Given the description of an element on the screen output the (x, y) to click on. 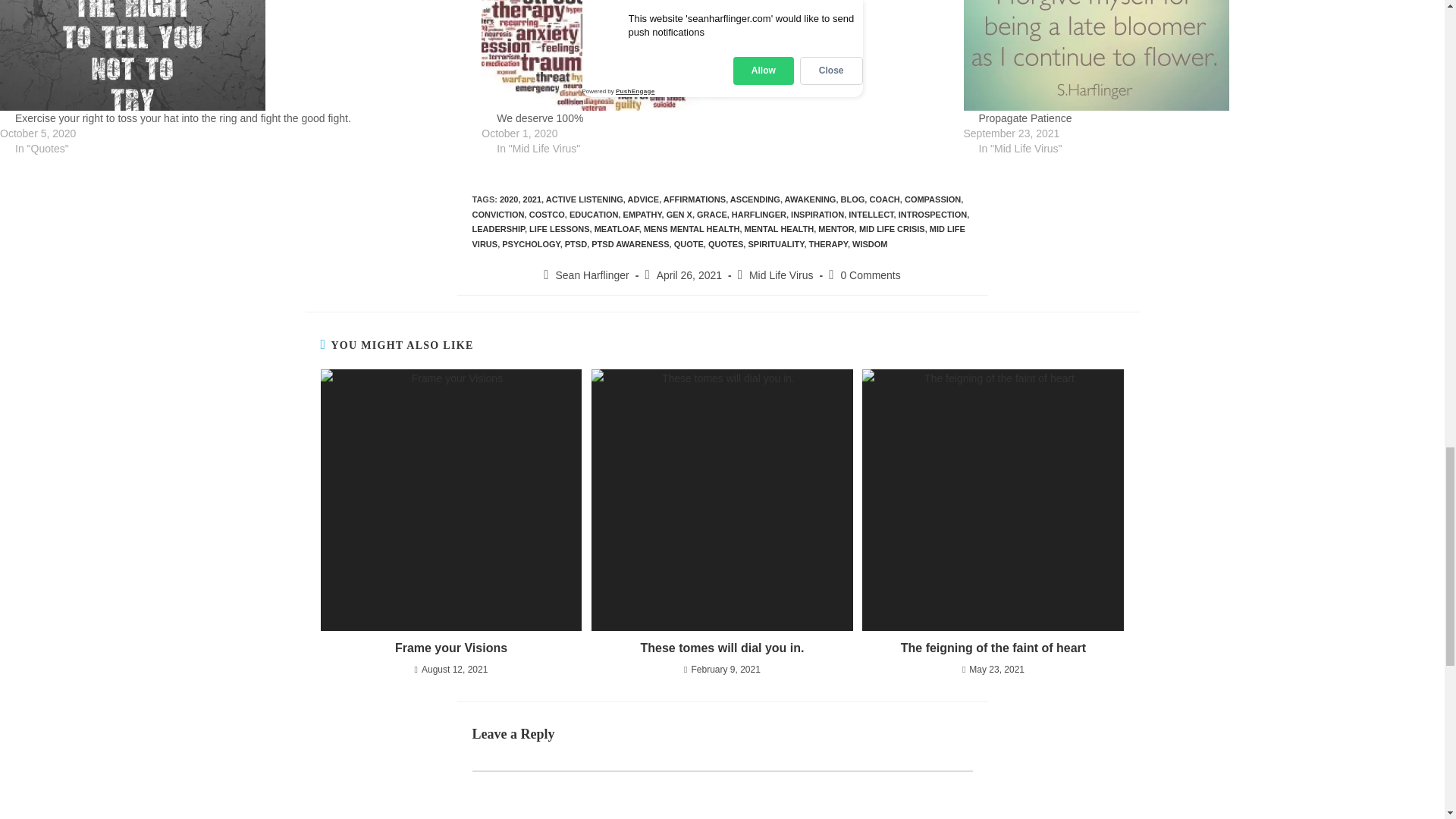
Propagate Patience (1024, 118)
